Given the description of an element on the screen output the (x, y) to click on. 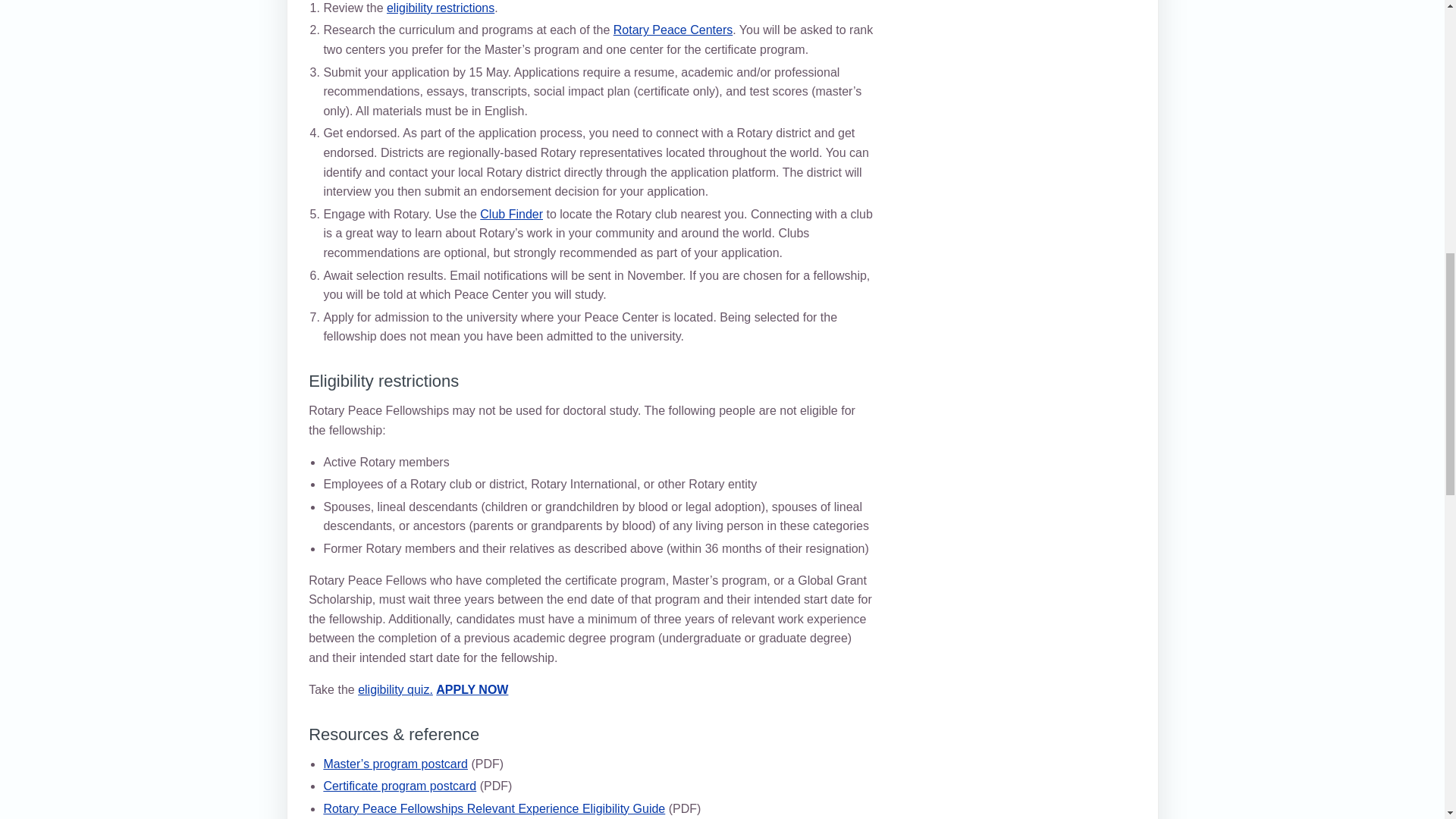
Club Finder (511, 214)
eligibility quiz. (395, 689)
APPLY NOW (471, 689)
Rotary Peace Centers (672, 29)
eligibility restrictions (441, 7)
Certificate program postcard (399, 785)
